Given the description of an element on the screen output the (x, y) to click on. 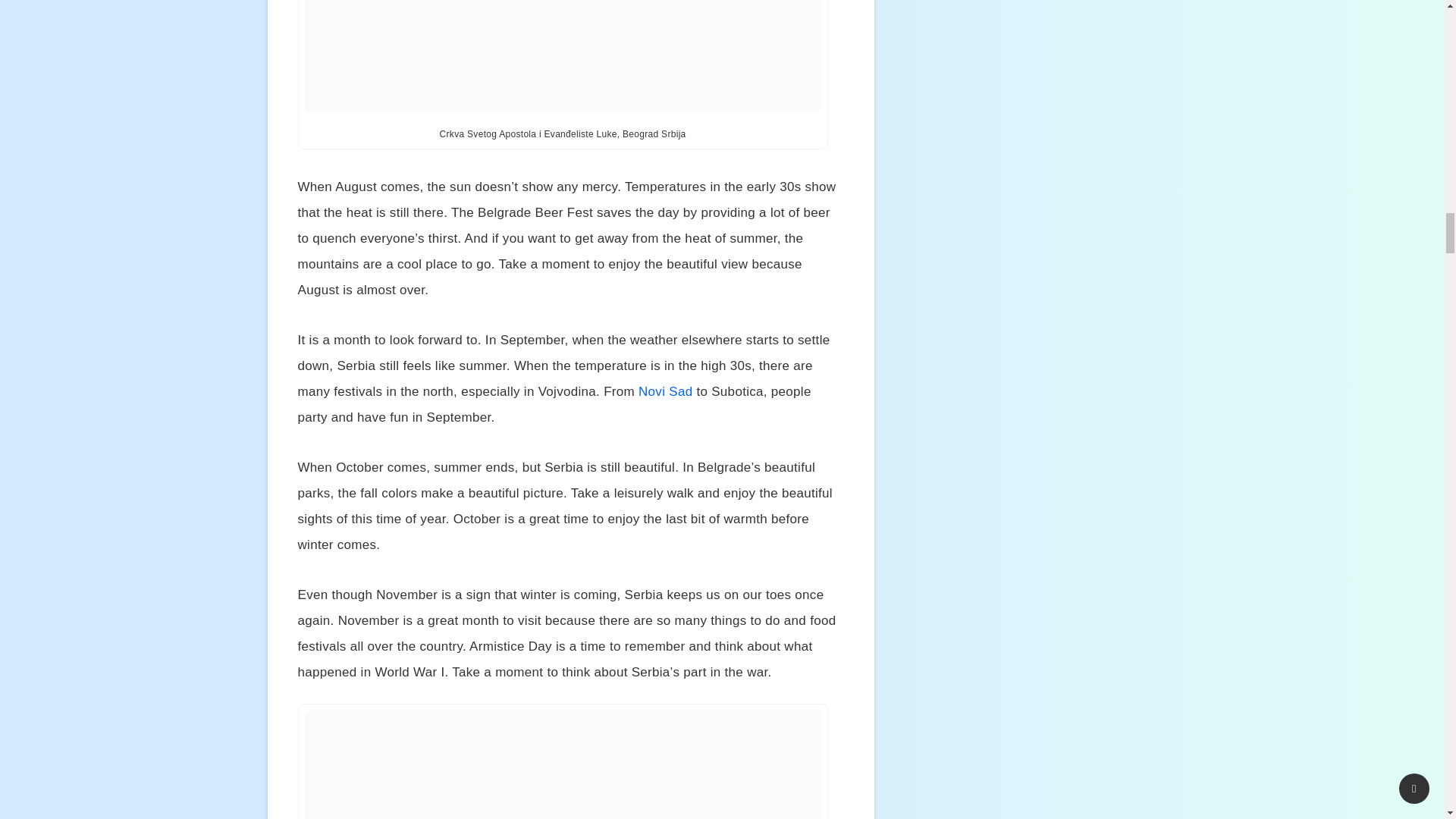
Stefan Nemanj, Beograd (562, 764)
